Given the description of an element on the screen output the (x, y) to click on. 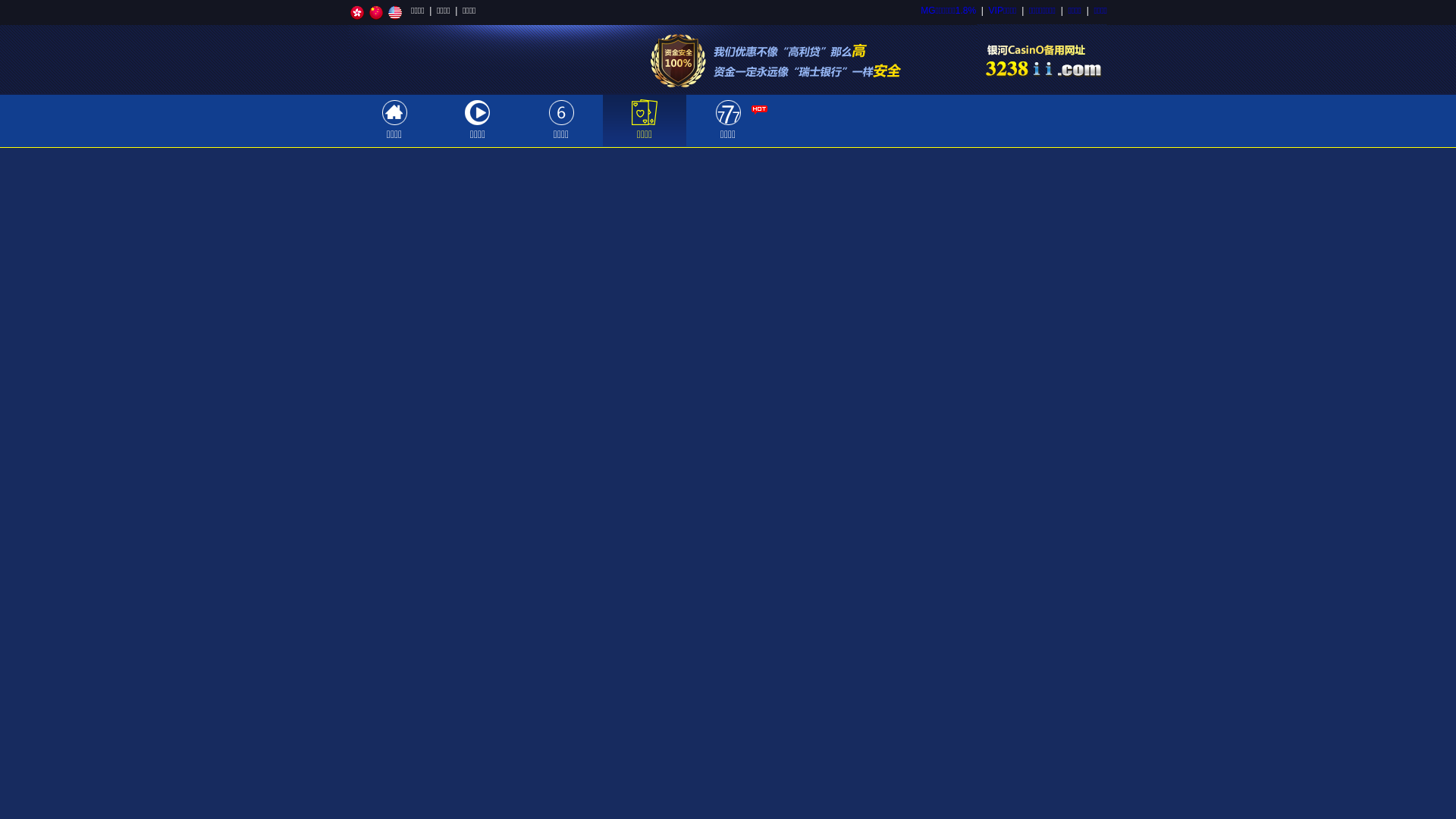
English Element type: hover (394, 12)
